Given the description of an element on the screen output the (x, y) to click on. 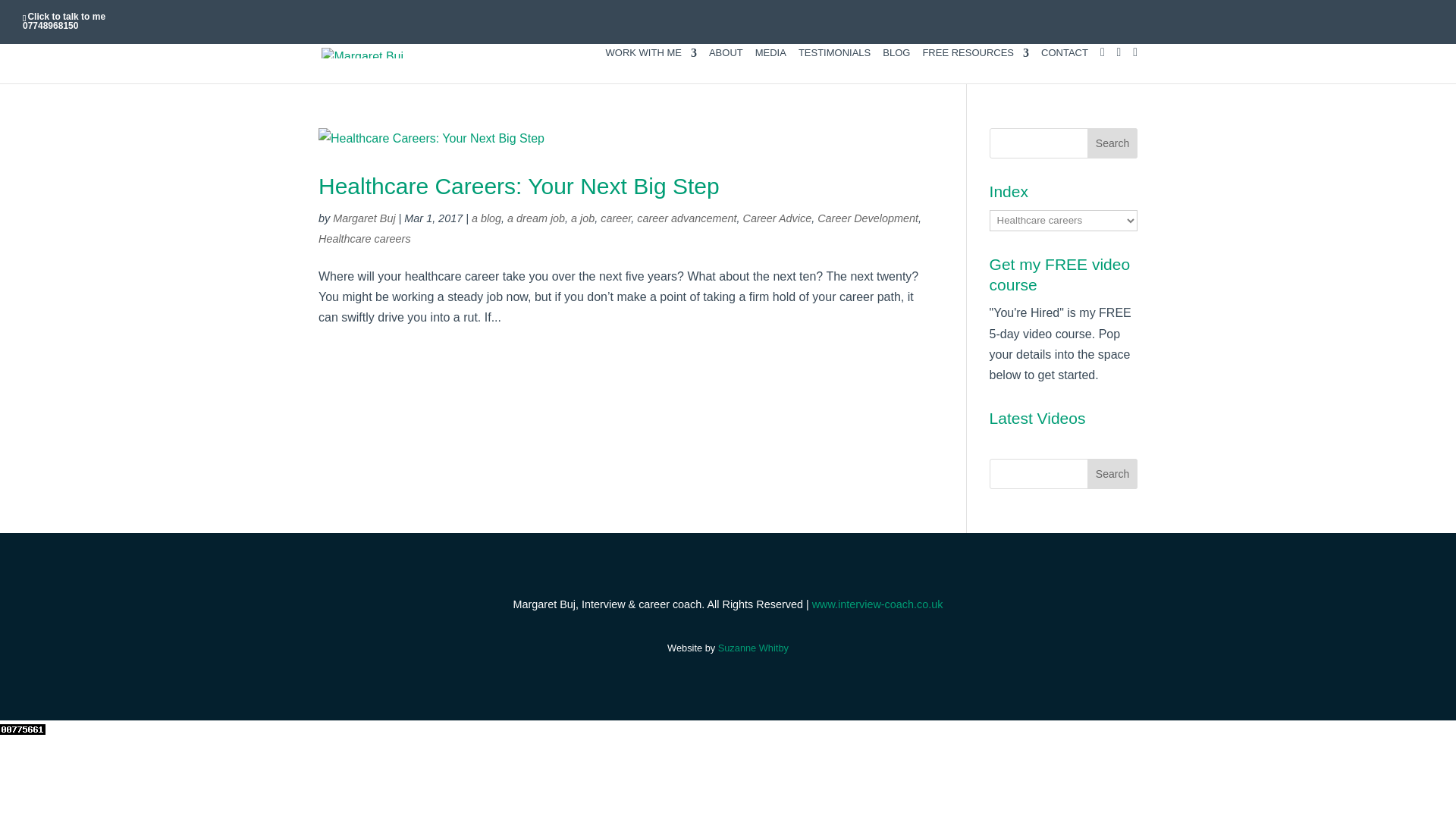
Search (1112, 142)
ABOUT (725, 65)
Posts by Margaret Buj (363, 218)
Career Advice (777, 218)
TESTIMONIALS (833, 65)
Suzanne Whitby (753, 647)
Healthcare Careers: Your Next Big Step (518, 186)
FREE RESOURCES (975, 65)
Margaret Buj (363, 218)
a dream job (535, 218)
career advancement (686, 218)
Healthcare careers (364, 238)
CONTACT (1064, 65)
Career Development (867, 218)
Click to talk to me 07748968150 (63, 21)
